Given the description of an element on the screen output the (x, y) to click on. 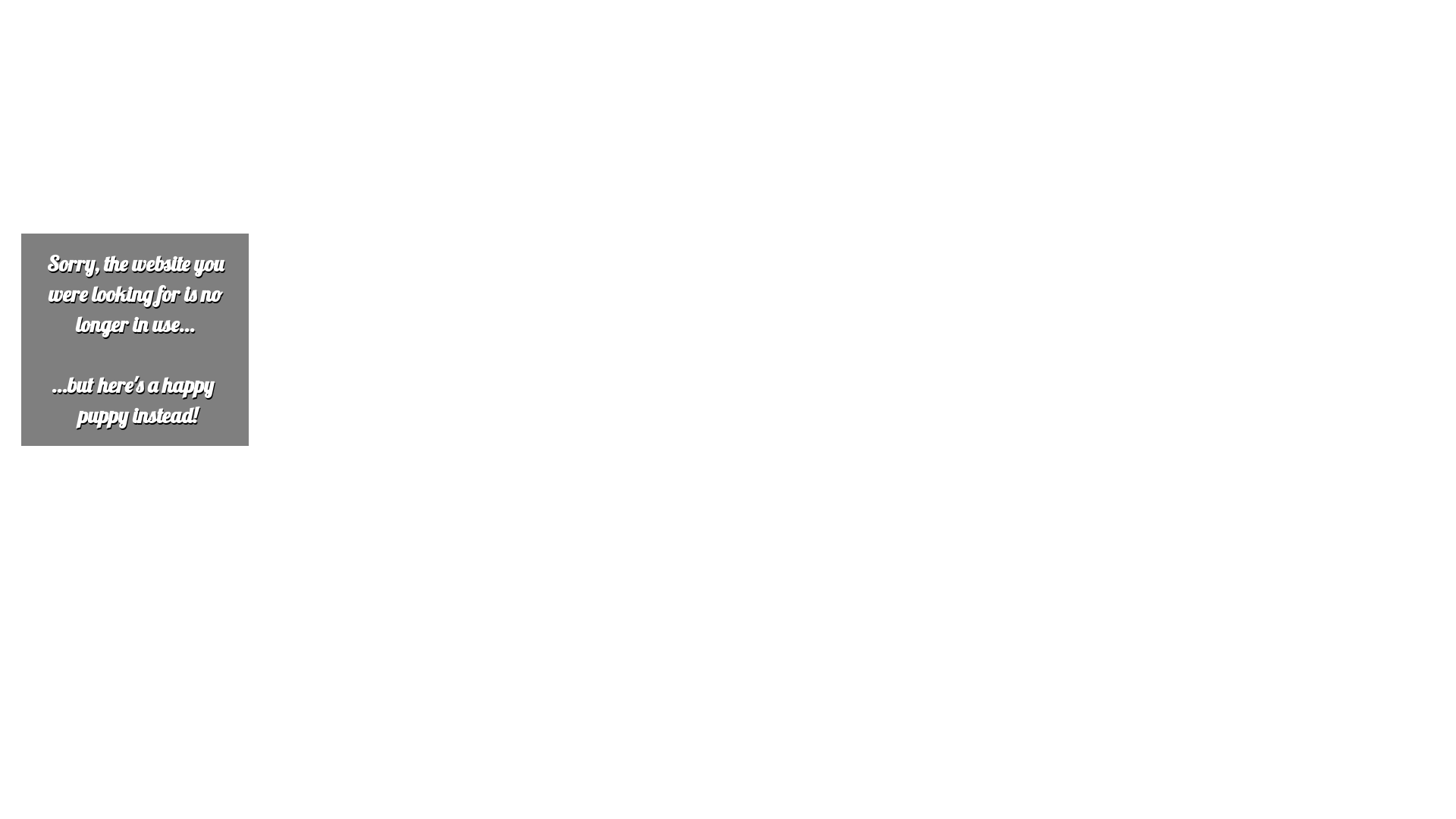
Advertisement Element type: hover (461, 112)
